Given the description of an element on the screen output the (x, y) to click on. 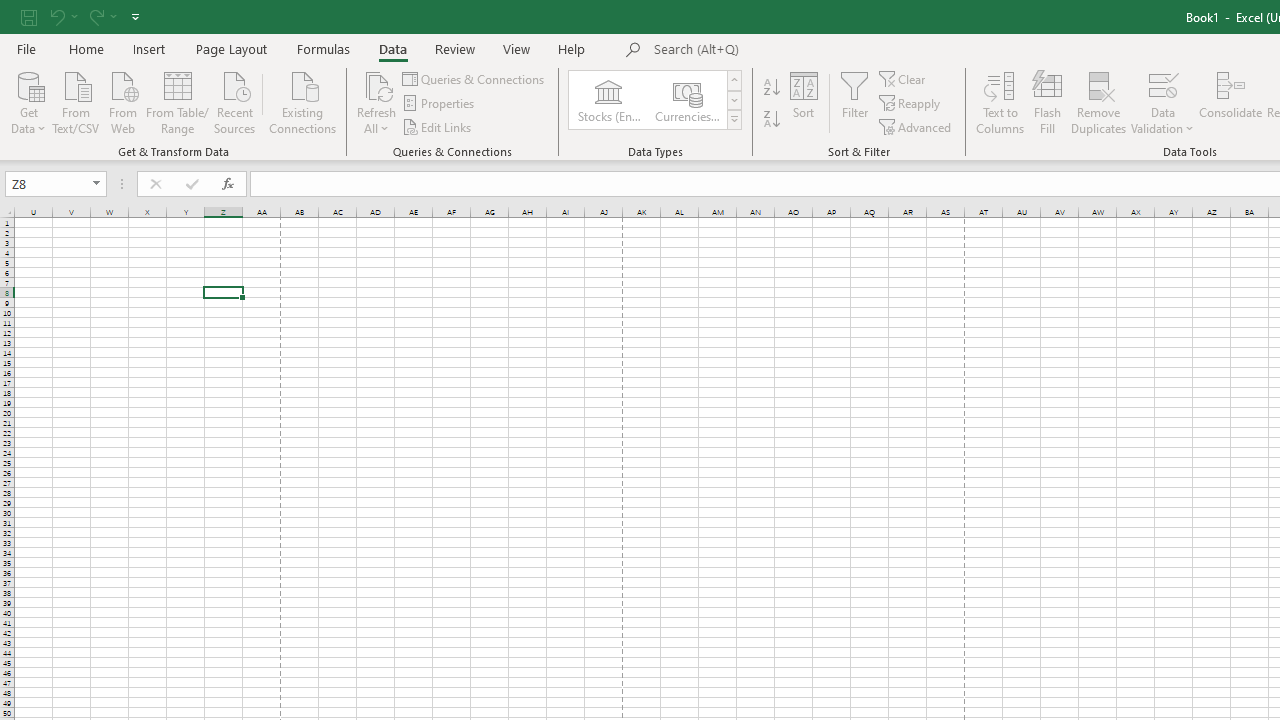
Text to Columns... (1000, 102)
Queries & Connections (474, 78)
Properties (440, 103)
Get Data (28, 101)
Edit Links (438, 126)
